Given the description of an element on the screen output the (x, y) to click on. 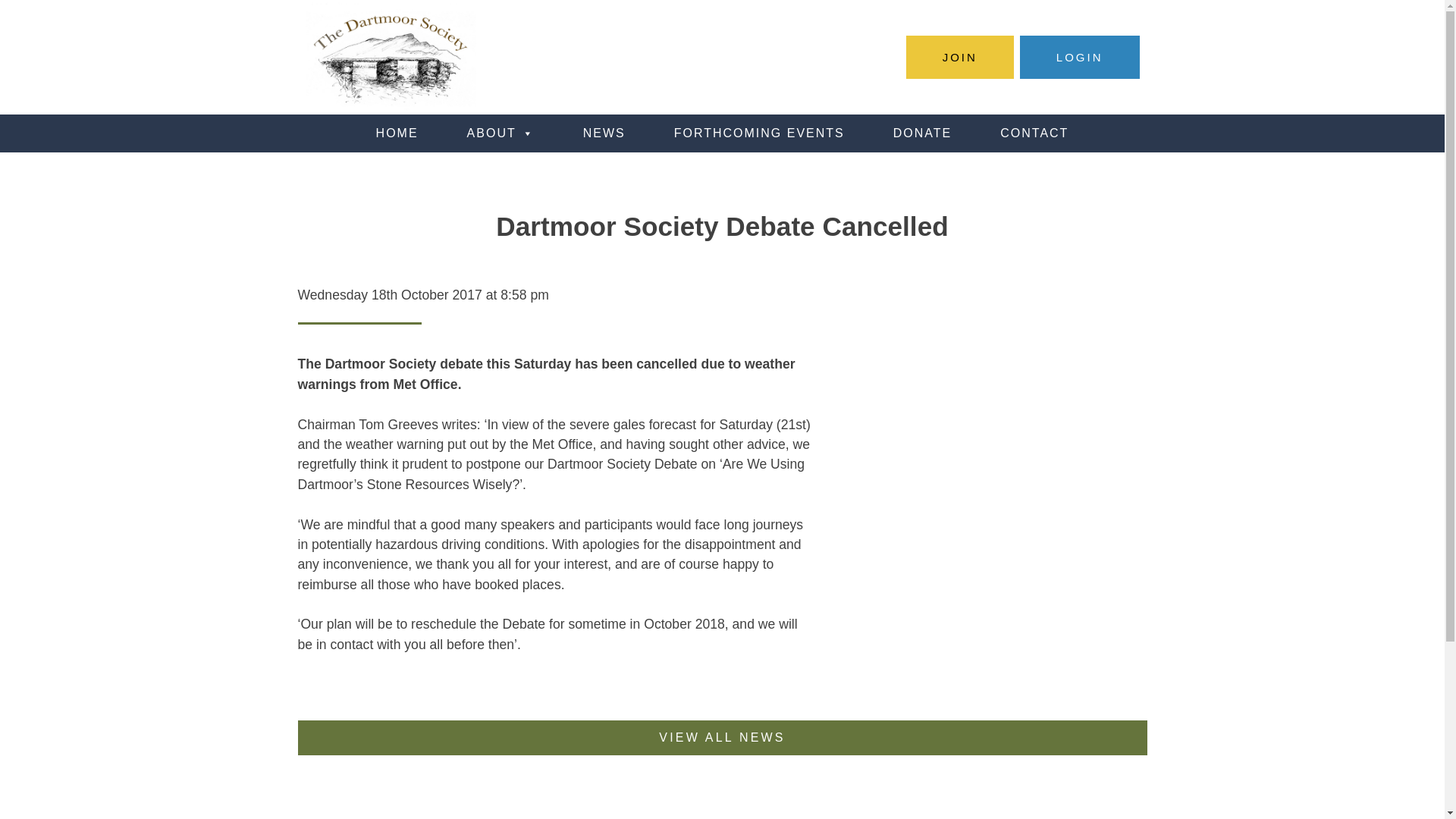
ABOUT (500, 133)
NEWS (604, 133)
HOME (397, 133)
JOIN (959, 57)
LOGIN (1080, 57)
DONATE (922, 133)
FORTHCOMING EVENTS (759, 133)
CONTACT (1034, 133)
VIEW ALL NEWS (722, 737)
